Given the description of an element on the screen output the (x, y) to click on. 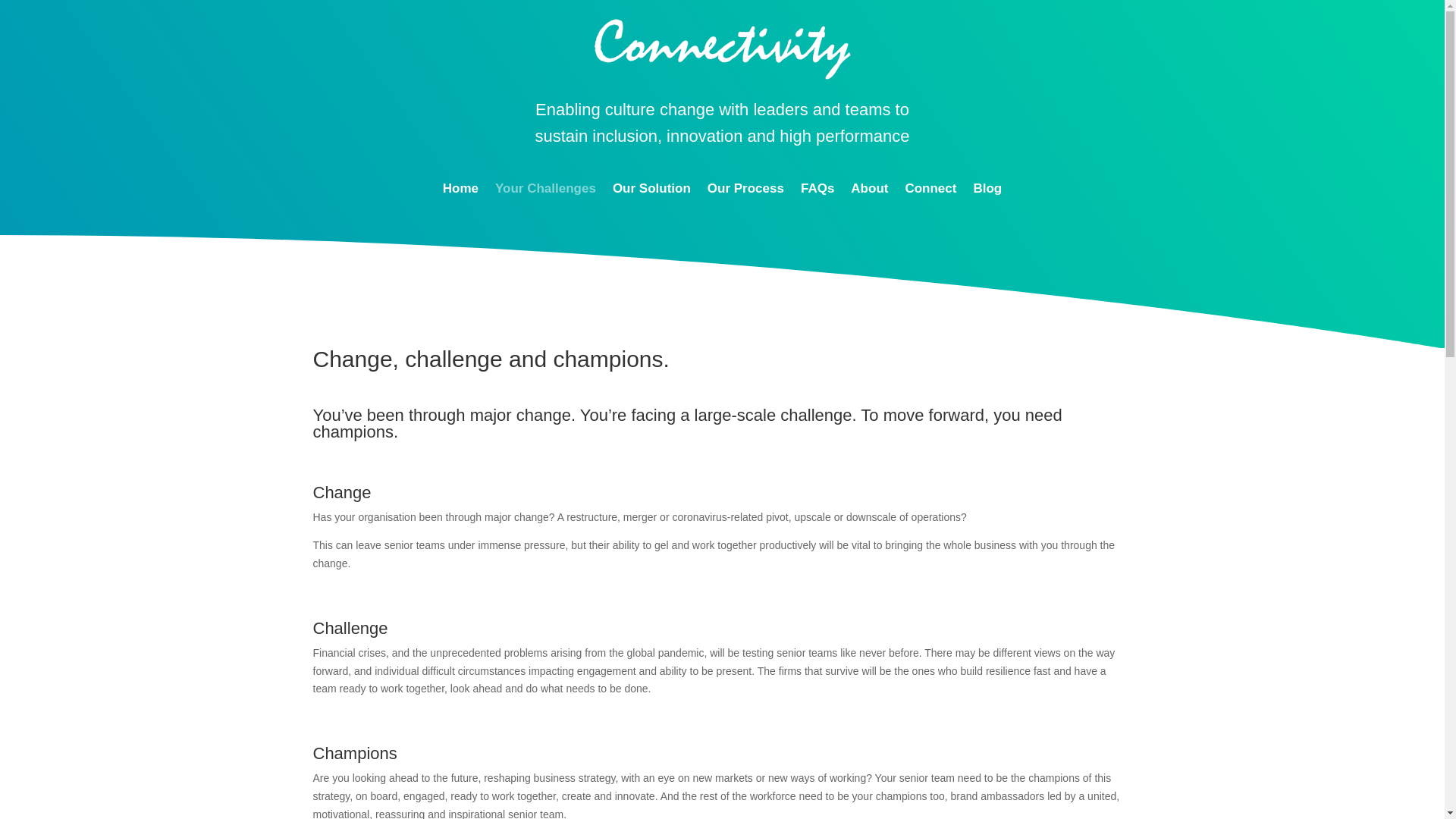
Home (460, 191)
FAQs (817, 191)
Your Challenges (545, 191)
Our Solution (651, 191)
Our Process (745, 191)
About (869, 191)
Connect (930, 191)
Blog (986, 191)
